Given the description of an element on the screen output the (x, y) to click on. 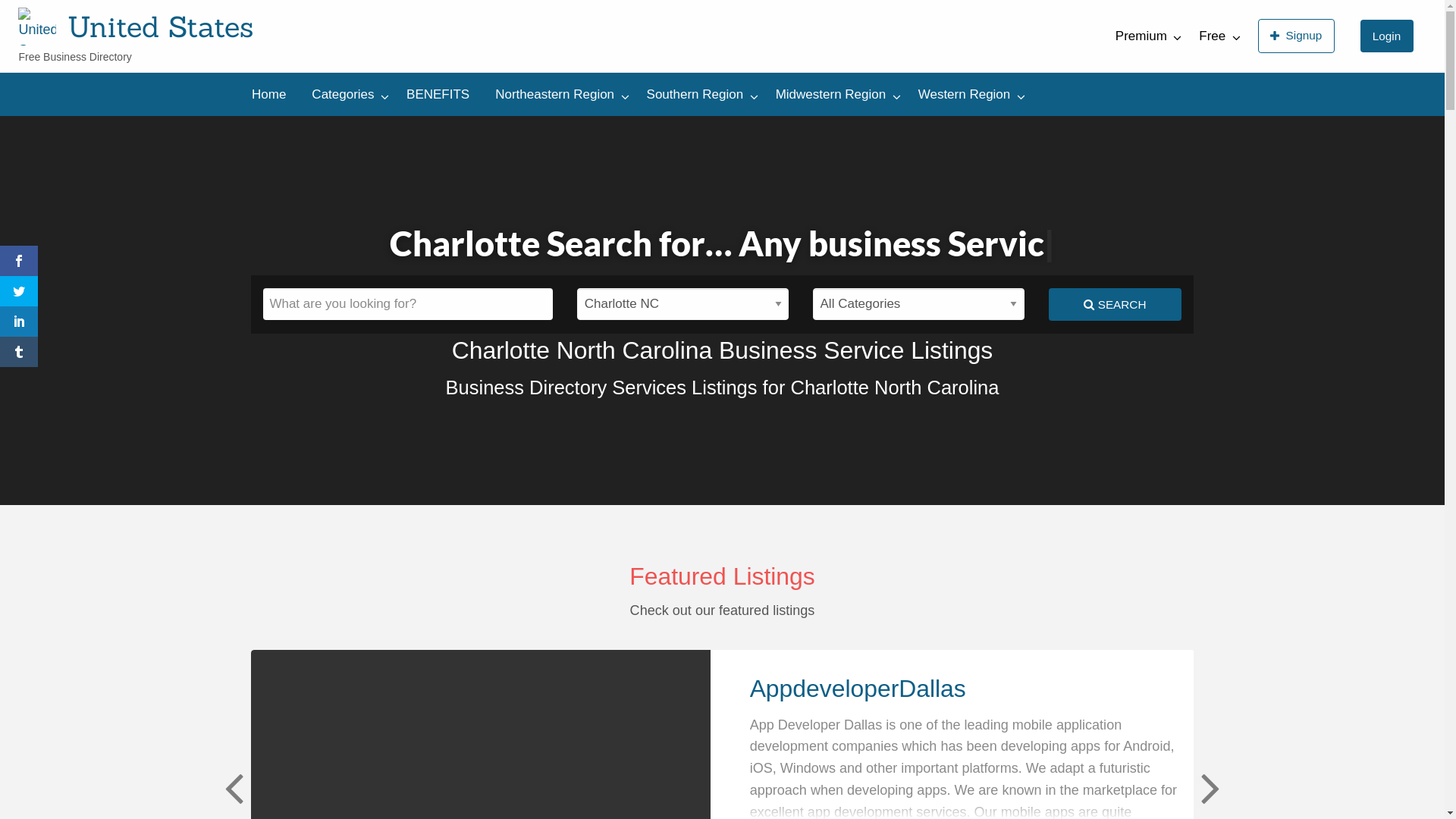
Previous Element type: text (231, 786)
Home Element type: text (268, 93)
SEARCH Element type: text (1114, 304)
Login Element type: text (1386, 35)
Western Region Element type: text (967, 93)
BENEFITS Element type: text (437, 93)
AppdeveloperDallas Element type: text (857, 688)
Next Element type: text (1208, 786)
Categories Element type: text (345, 93)
Premium Element type: text (1144, 35)
Northeastern Region Element type: text (557, 93)
United States Element type: text (160, 25)
Southern Region Element type: text (697, 93)
Free Element type: text (1215, 35)
Midwestern Region Element type: text (833, 93)
Signup Element type: text (1296, 35)
Midwestern Region Element type: text (314, 84)
Signup Element type: text (1296, 35)
Login Element type: text (1386, 35)
Northeastern Region Element type: text (119, 84)
Southern Region Element type: text (219, 84)
Western Region Element type: text (406, 84)
